Given the description of an element on the screen output the (x, y) to click on. 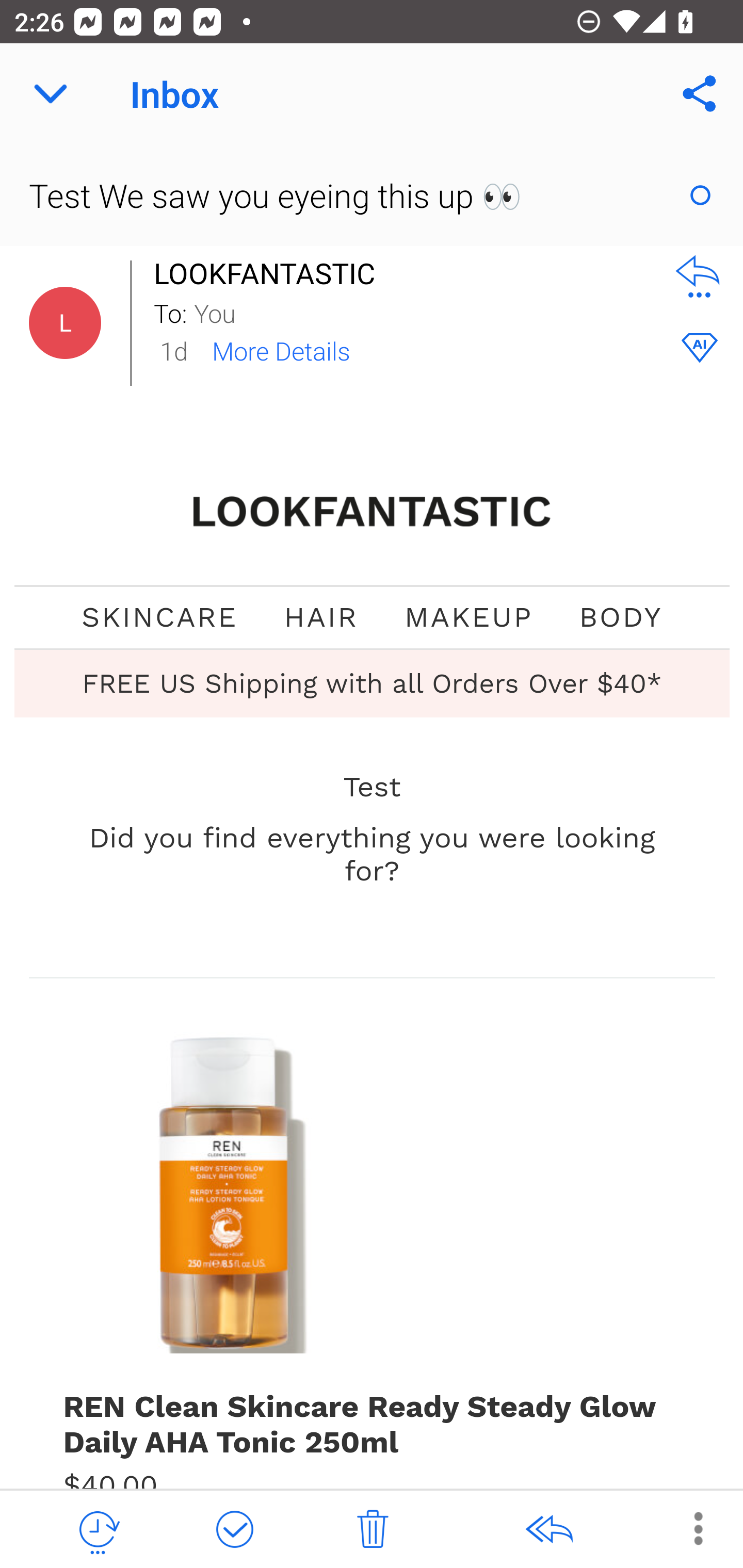
Navigate up (50, 93)
Share (699, 93)
Mark as Read (699, 194)
LOOKFANTASTIC (269, 273)
Contact Details (64, 322)
More Details (280, 349)
lookfantastic (372, 511)
  SKINCARE   (159, 616)
  HAIR   (321, 616)
  MAKEUP   (468, 616)
  BODY   (620, 616)
More Options (687, 1528)
Snooze (97, 1529)
Mark as Done (234, 1529)
Delete (372, 1529)
Reply All (548, 1529)
